Given the description of an element on the screen output the (x, y) to click on. 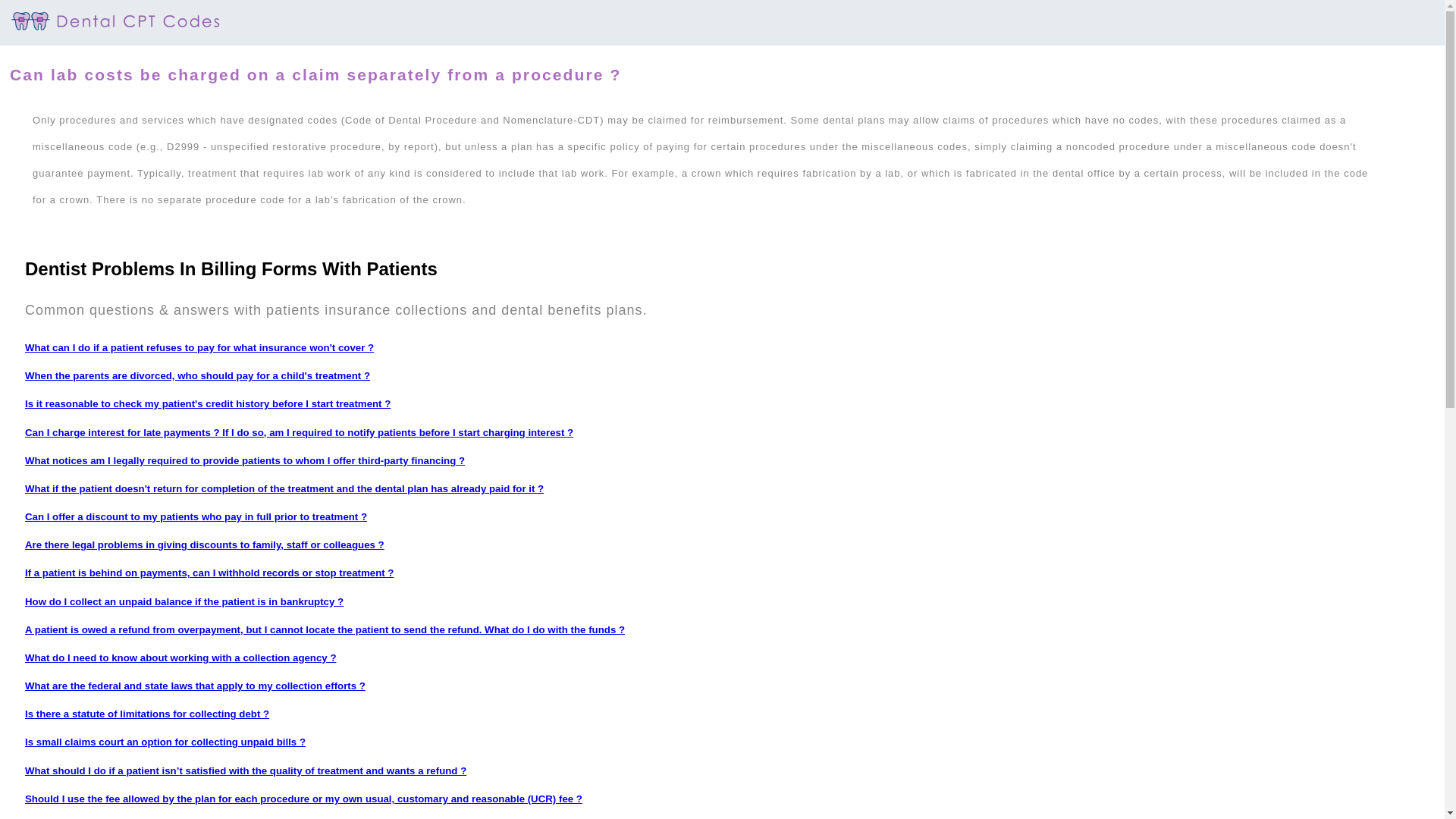
Is there a statute of limitations for collecting debt ? (146, 713)
